Given the description of an element on the screen output the (x, y) to click on. 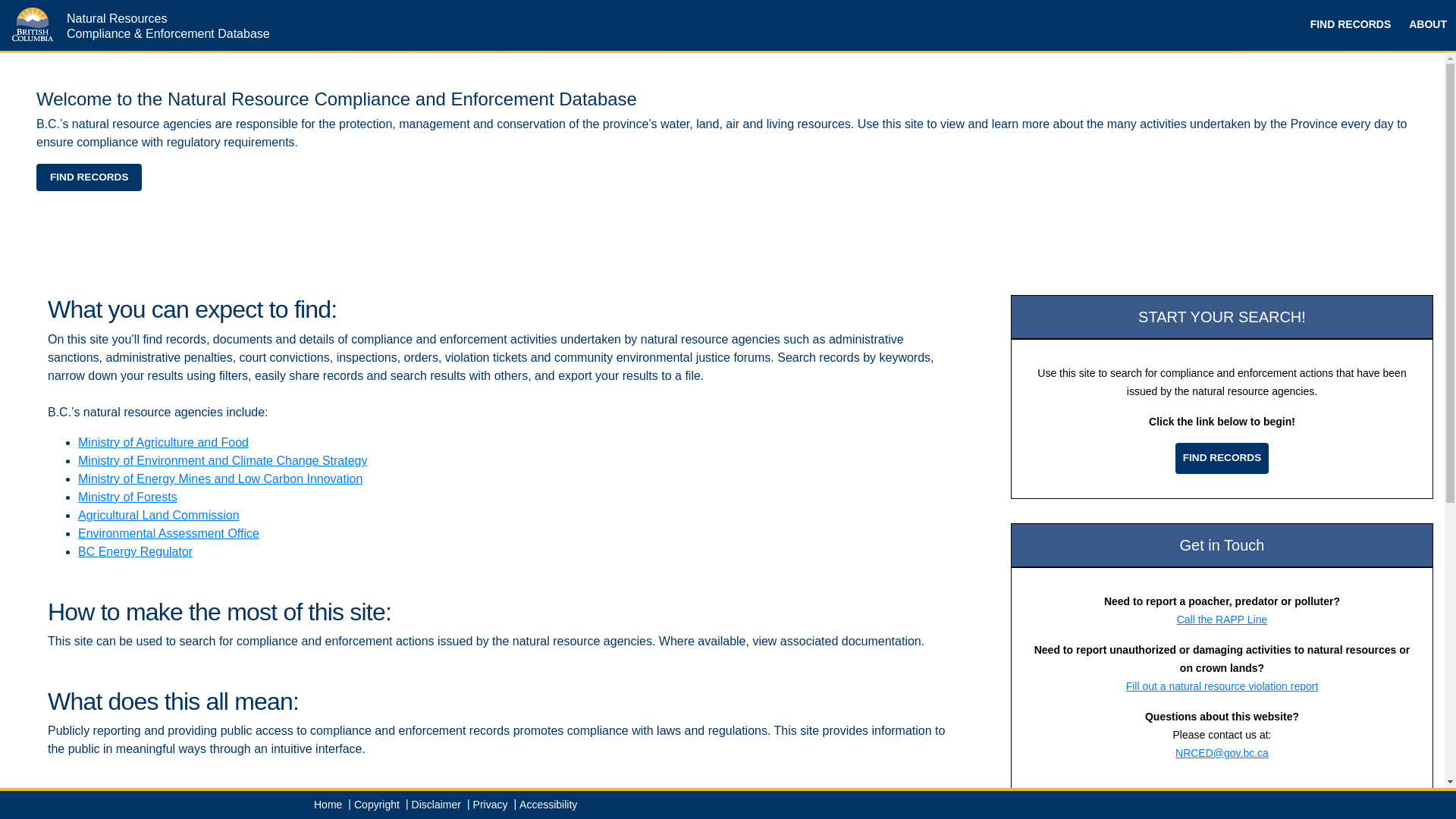
Ministry of Forests Element type: text (127, 496)
Agricultural Land Commission Element type: text (158, 514)
NRCED@gov.bc.ca Element type: text (1221, 752)
Home Element type: text (327, 804)
BC Energy Regulator Element type: text (135, 551)
Copyright Element type: text (376, 804)
Natural Resources
Compliance & Enforcement Database Element type: text (134, 25)
Ministry of Energy Mines and Low Carbon Innovation Element type: text (220, 478)
Environmental Assessment Office Element type: text (168, 533)
FIND RECORDS Element type: text (1221, 457)
Disclaimer Element type: text (436, 804)
Call the RAPP Line Element type: text (1221, 619)
Privacy Element type: text (490, 804)
FIND RECORDS Element type: text (88, 177)
Accessibility Element type: text (548, 804)
Ministry of Agriculture and Food Element type: text (163, 442)
FIND RECORDS Element type: text (1350, 25)
Fill out a natural resource violation report Element type: text (1222, 686)
Ministry of Environment and Climate Change Strategy Element type: text (222, 460)
